Given the description of an element on the screen output the (x, y) to click on. 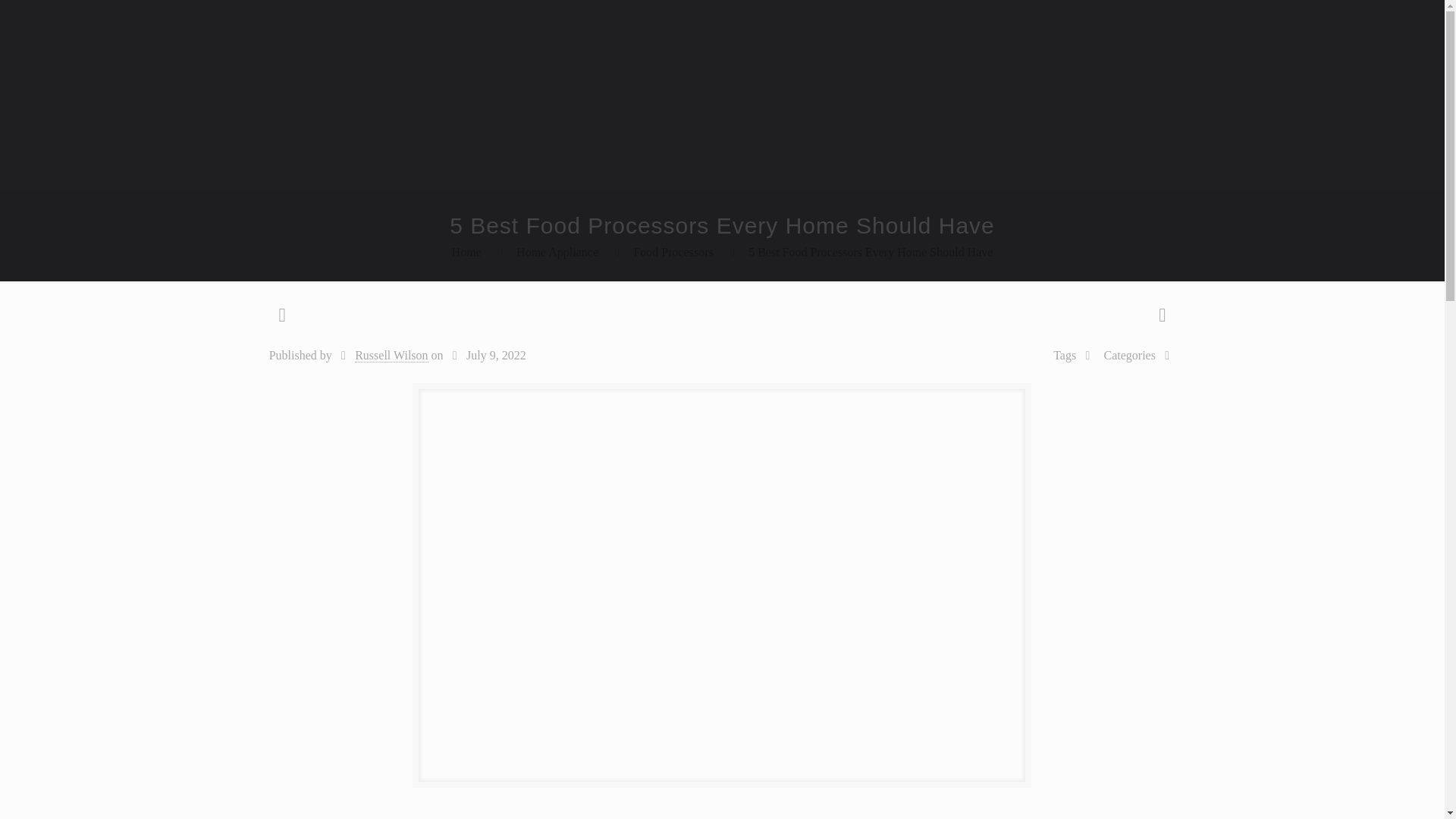
5 Best Food Processors Every Home Should Have (870, 251)
Home Appliance (557, 251)
Food Processors (673, 251)
Russell Wilson (391, 355)
Home (466, 251)
